Given the description of an element on the screen output the (x, y) to click on. 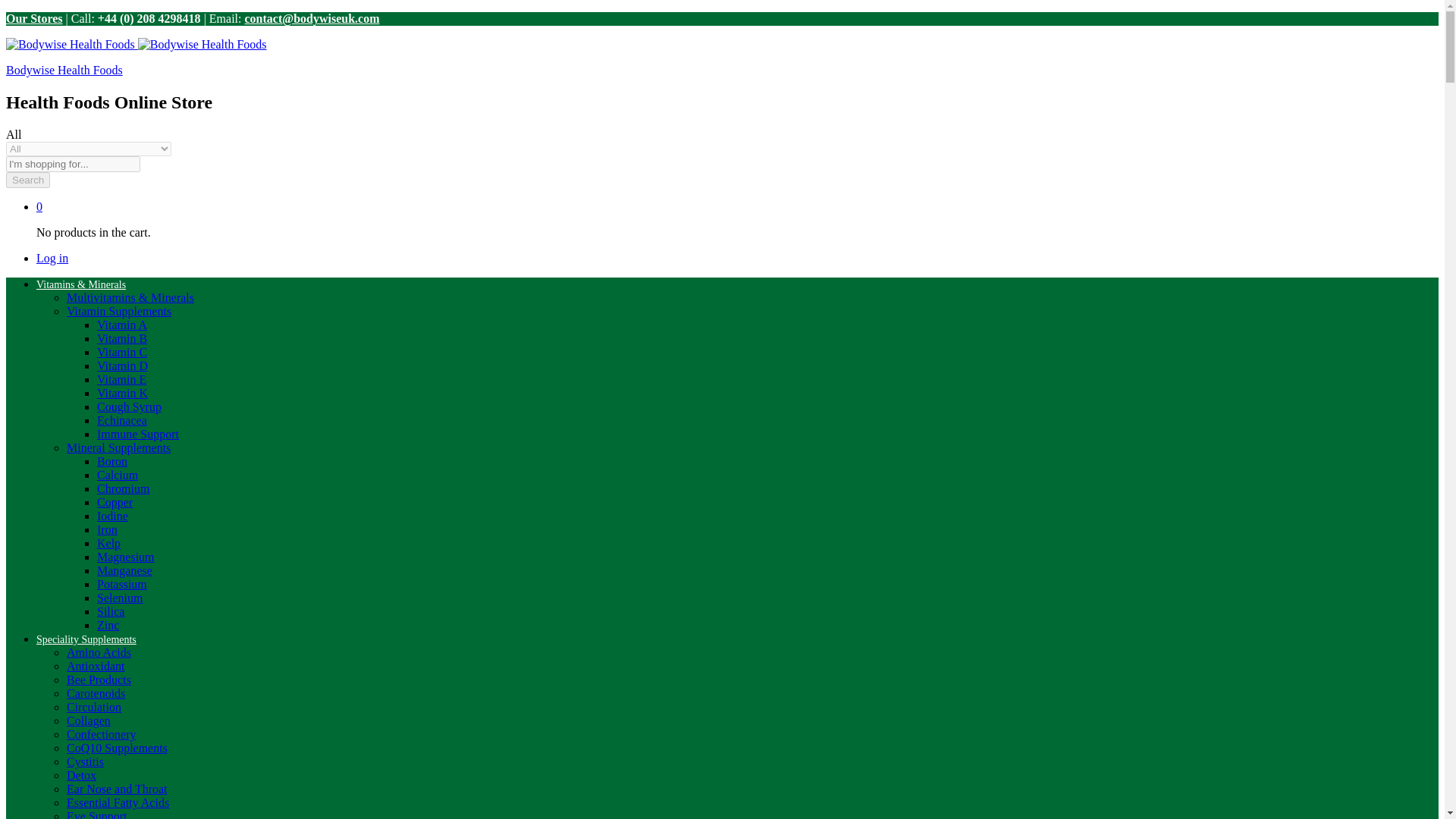
Iodine (112, 515)
Vitamin D (122, 365)
Boron (112, 461)
Search (27, 179)
Chromium (123, 488)
Selenium (119, 597)
Bodywise Health Foods (63, 69)
Immune Support (138, 433)
Vitamin E (122, 379)
Vitamin A (122, 324)
Iron (107, 529)
Magnesium (125, 556)
Vitamin Supplements (118, 310)
Vitamin B (122, 338)
Silica (110, 611)
